Given the description of an element on the screen output the (x, y) to click on. 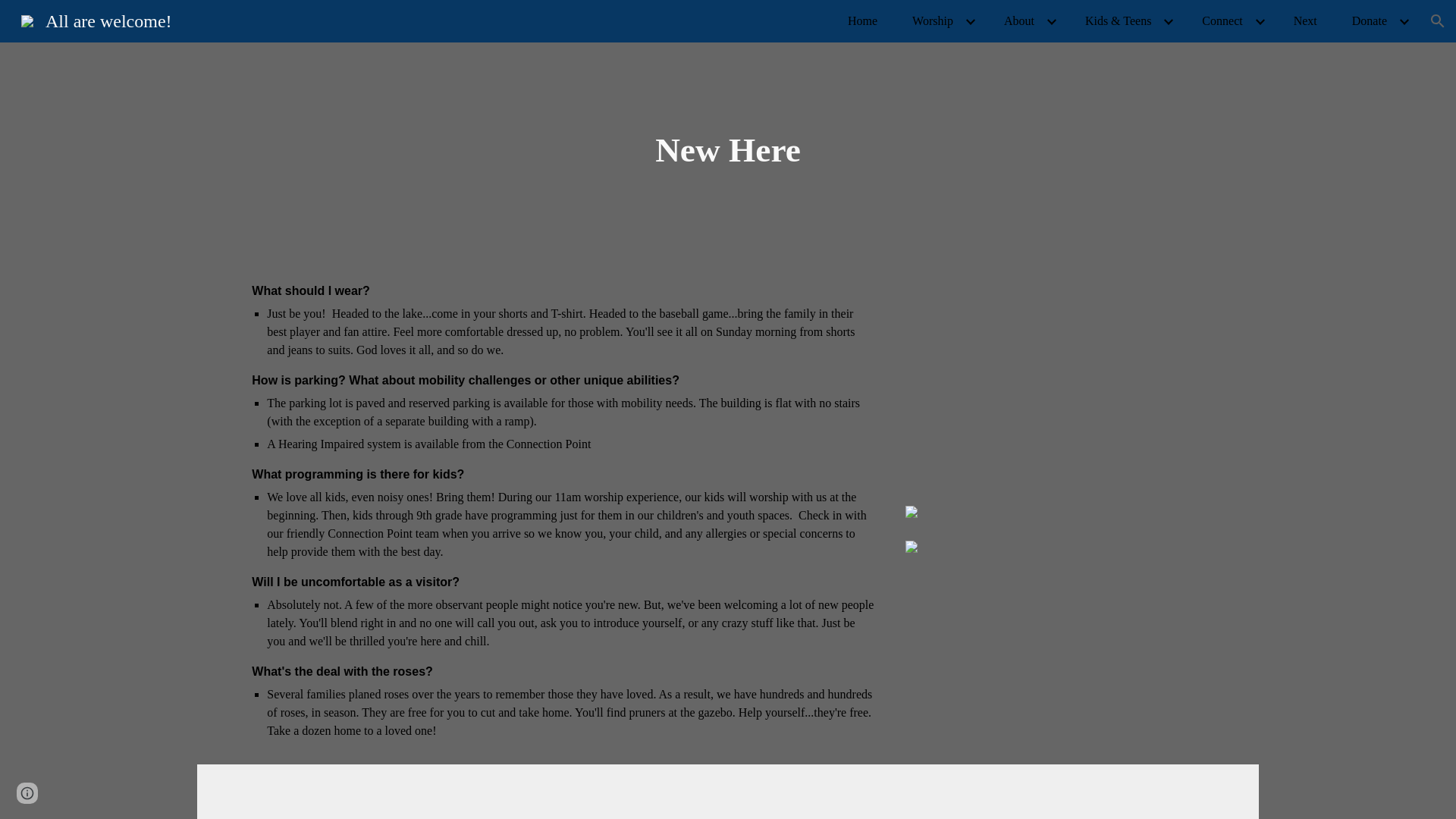
All are welcome! (95, 19)
